Given the description of an element on the screen output the (x, y) to click on. 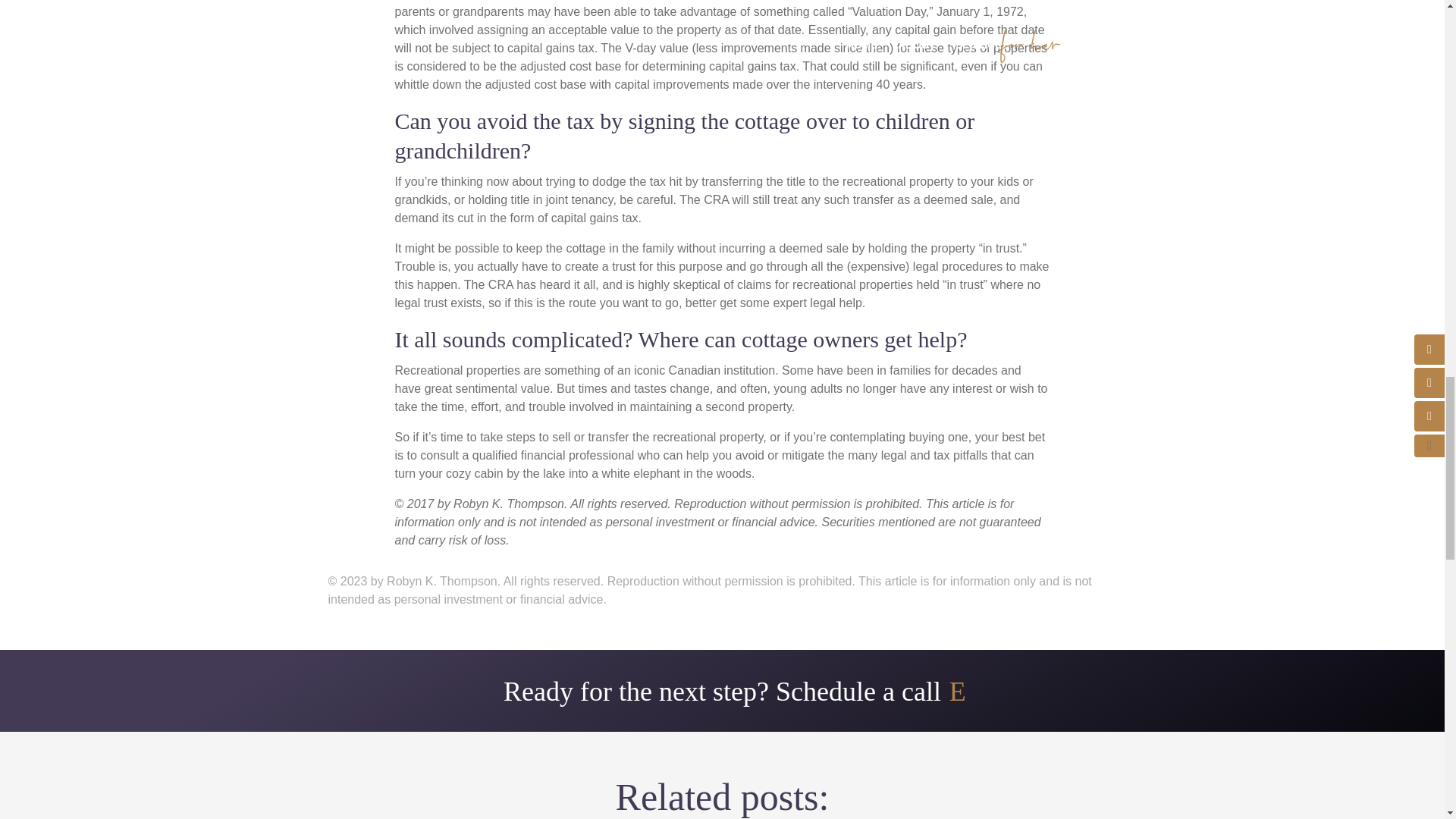
Ready for the next step? Schedule a call (721, 691)
